Given the description of an element on the screen output the (x, y) to click on. 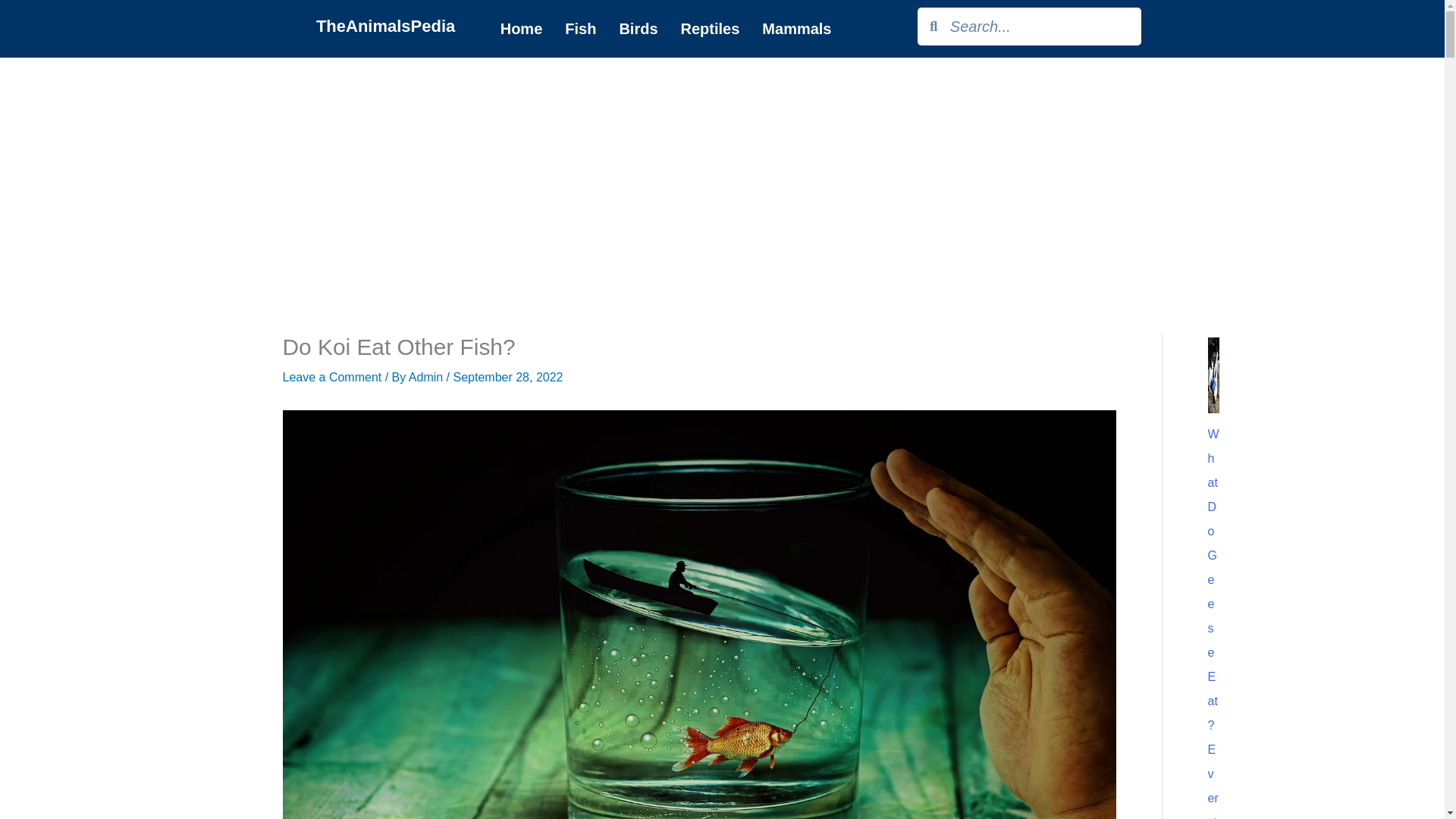
TheAnimalsPedia (384, 26)
Birds (637, 28)
Mammals (797, 28)
Admin (427, 377)
Reptiles (710, 28)
Leave a Comment (331, 377)
Fish (580, 28)
View all posts by Admin (427, 377)
Home (521, 28)
